Given the description of an element on the screen output the (x, y) to click on. 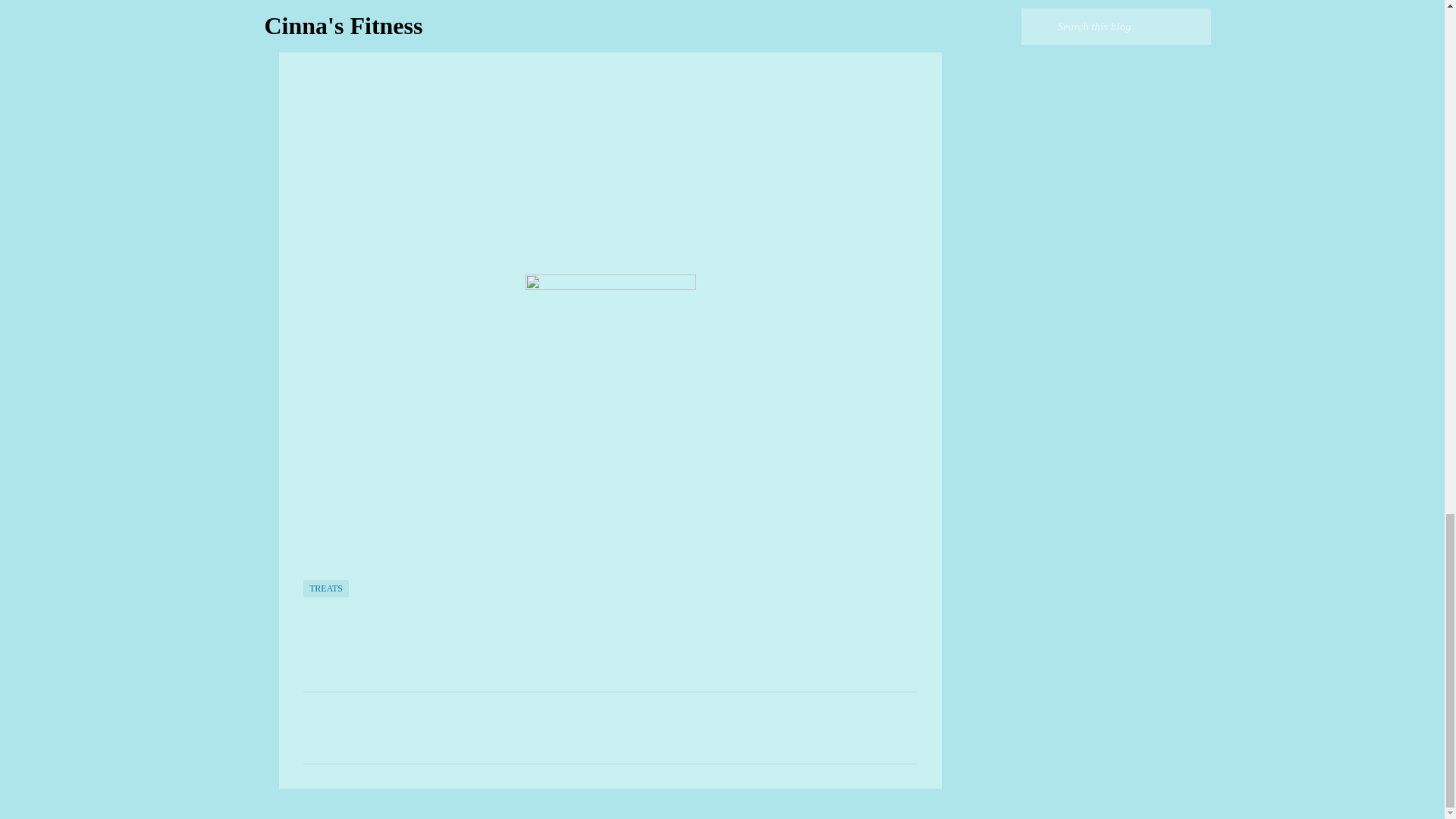
TREATS (325, 588)
